Given the description of an element on the screen output the (x, y) to click on. 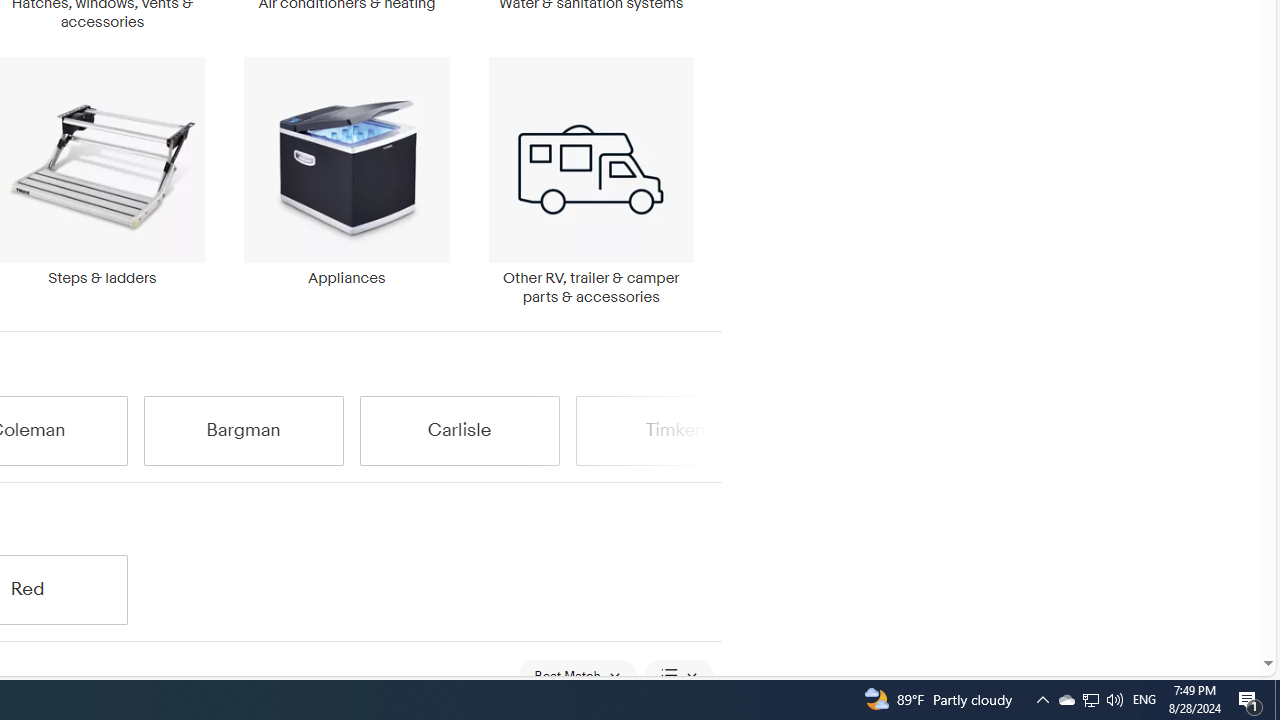
Bargman (243, 430)
View: List View (678, 674)
Appliances (346, 172)
Go to next slide (708, 430)
Sort: Best Match (577, 674)
Carlisle (459, 430)
Other RV, trailer & camper parts & accessories (591, 181)
Appliances (346, 181)
Bargman (243, 430)
Carlisle (459, 430)
Other RV, trailer & camper parts & accessories (591, 181)
